Given the description of an element on the screen output the (x, y) to click on. 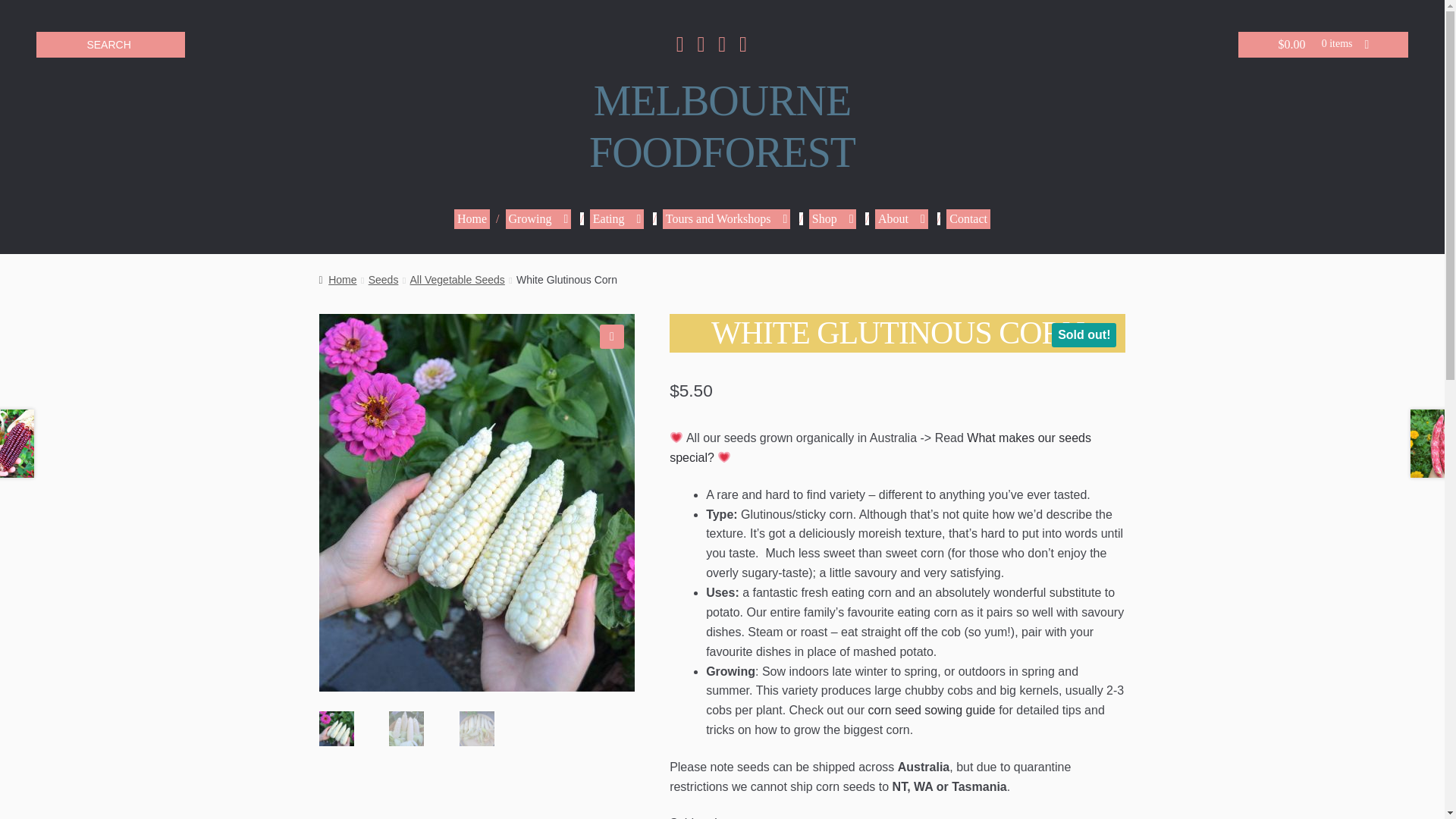
Home (722, 127)
Skip to navigation (471, 219)
View your shopping cart (726, 219)
Growing (1323, 44)
Eating (538, 219)
Shop (617, 219)
